Given the description of an element on the screen output the (x, y) to click on. 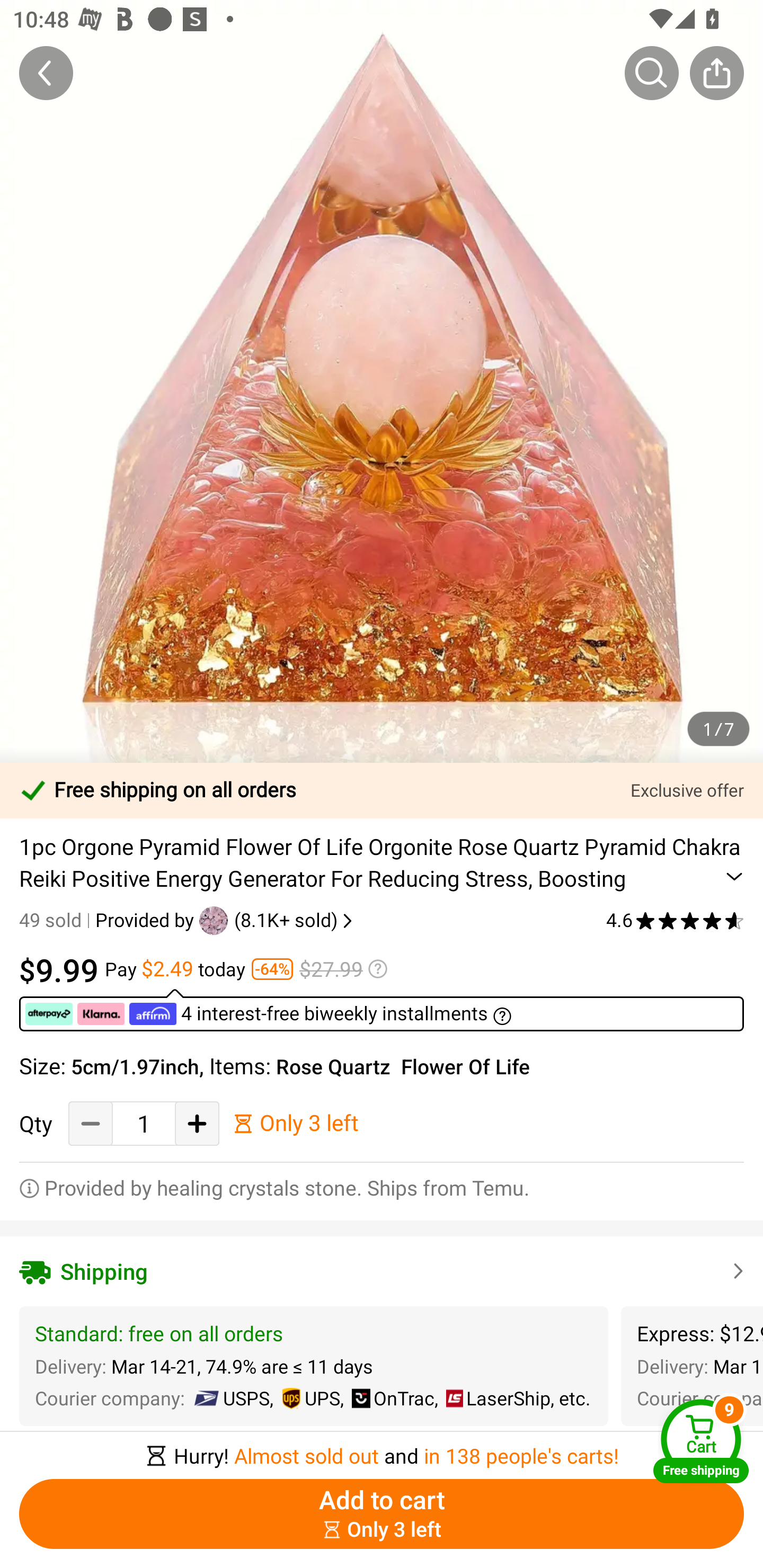
Back (46, 72)
Share (716, 72)
Free shipping on all orders Exclusive offer (381, 790)
49 sold Provided by  (109, 920)
4.6 (674, 920)
￼ ￼ ￼ 4 interest-free biweekly installments ￼ (381, 1009)
Decrease Quantity Button (90, 1123)
1 (143, 1123)
Add Quantity button (196, 1123)
Shipping (381, 1271)
Cart Free shipping Cart (701, 1440)
Add to cart ￼￼Only 3 left (381, 1513)
